Given the description of an element on the screen output the (x, y) to click on. 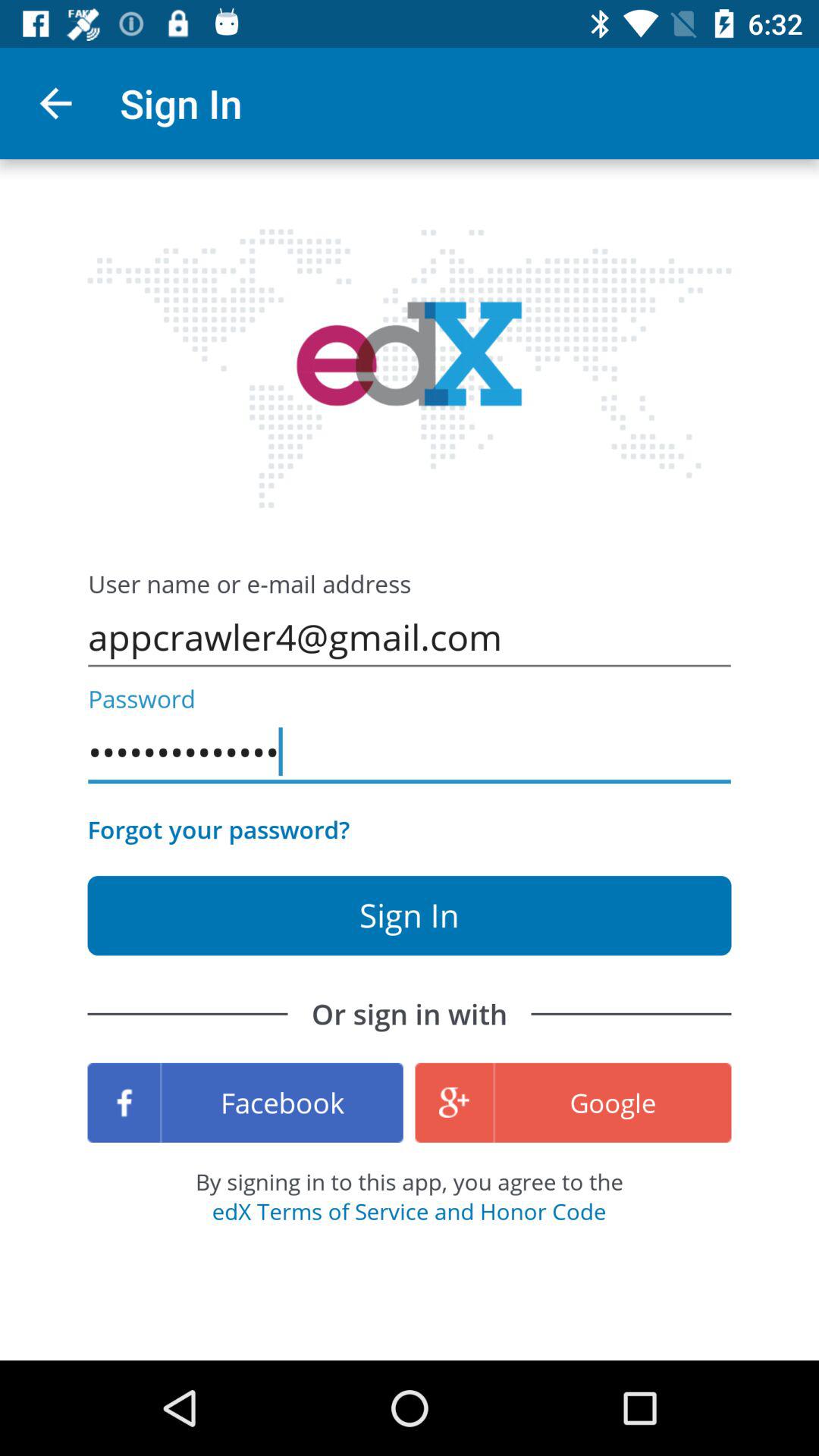
select the item above or sign in (218, 829)
